Given the description of an element on the screen output the (x, y) to click on. 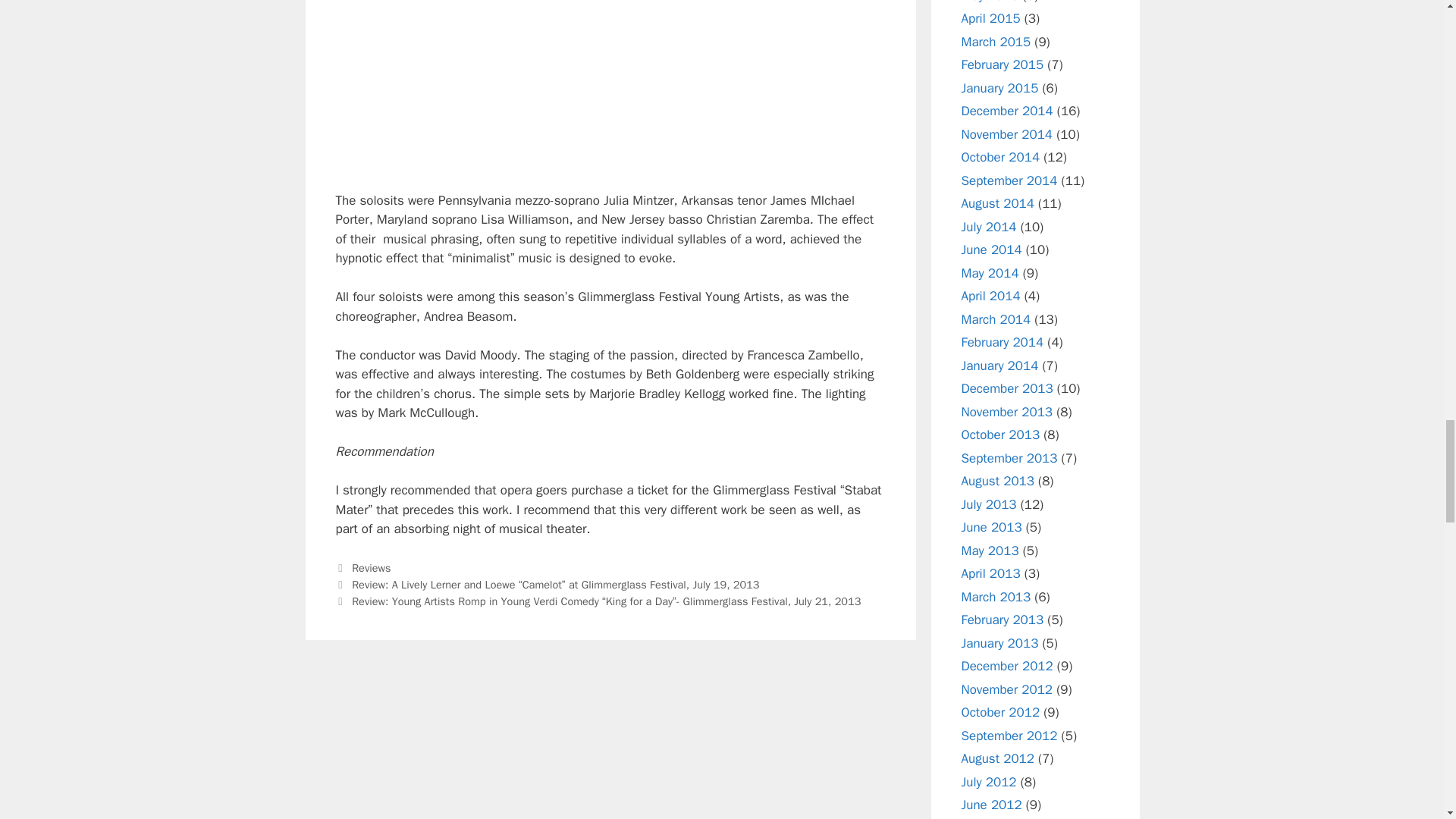
Reviews (371, 567)
